Given the description of an element on the screen output the (x, y) to click on. 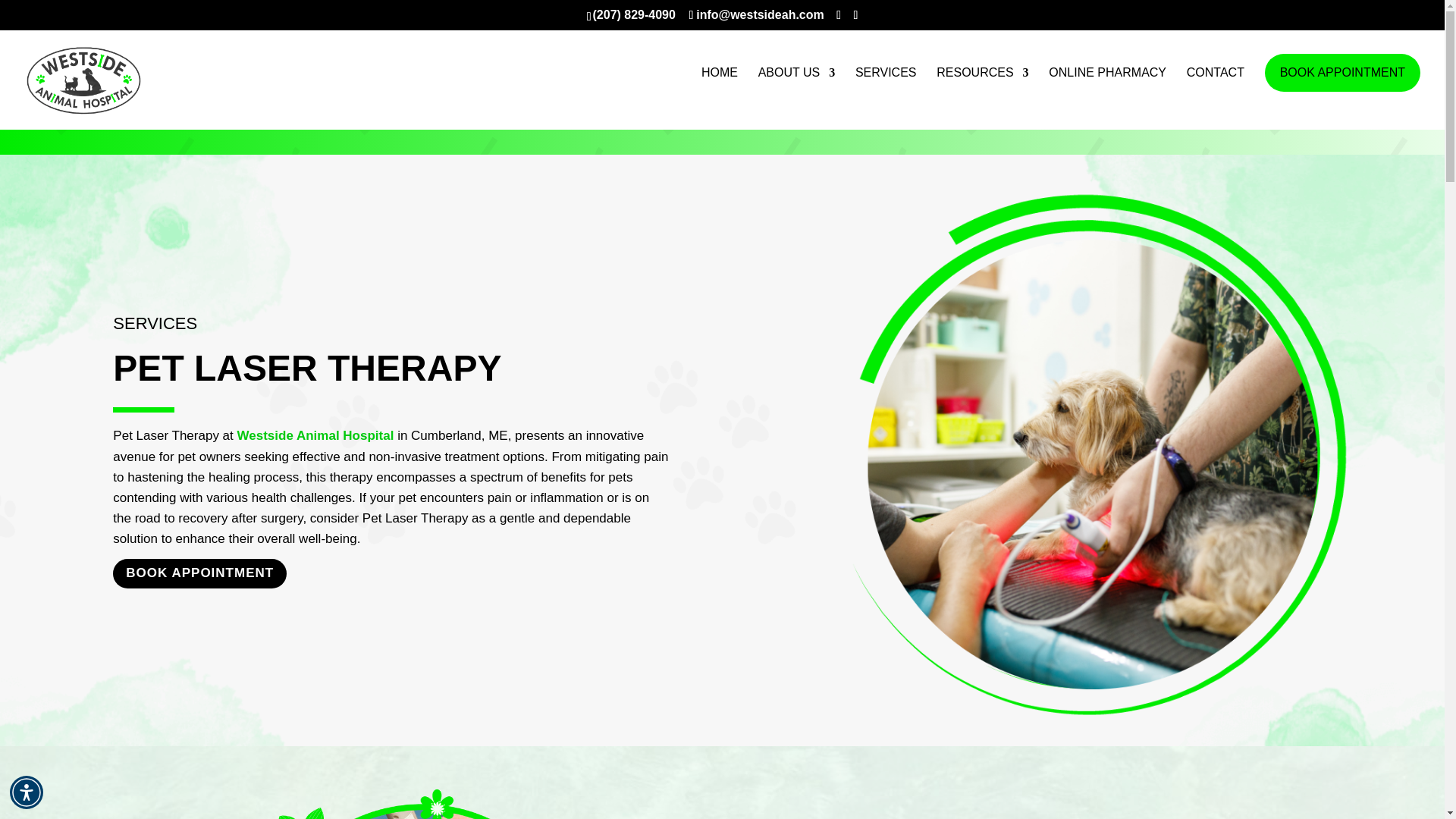
SERVICES (886, 98)
RESOURCES (981, 98)
ABOUT US (796, 98)
CONTACT (1215, 98)
ONLINE PHARMACY (1107, 98)
Accessibility Menu (26, 792)
BOOK APPOINTMENT (1343, 72)
